Given the description of an element on the screen output the (x, y) to click on. 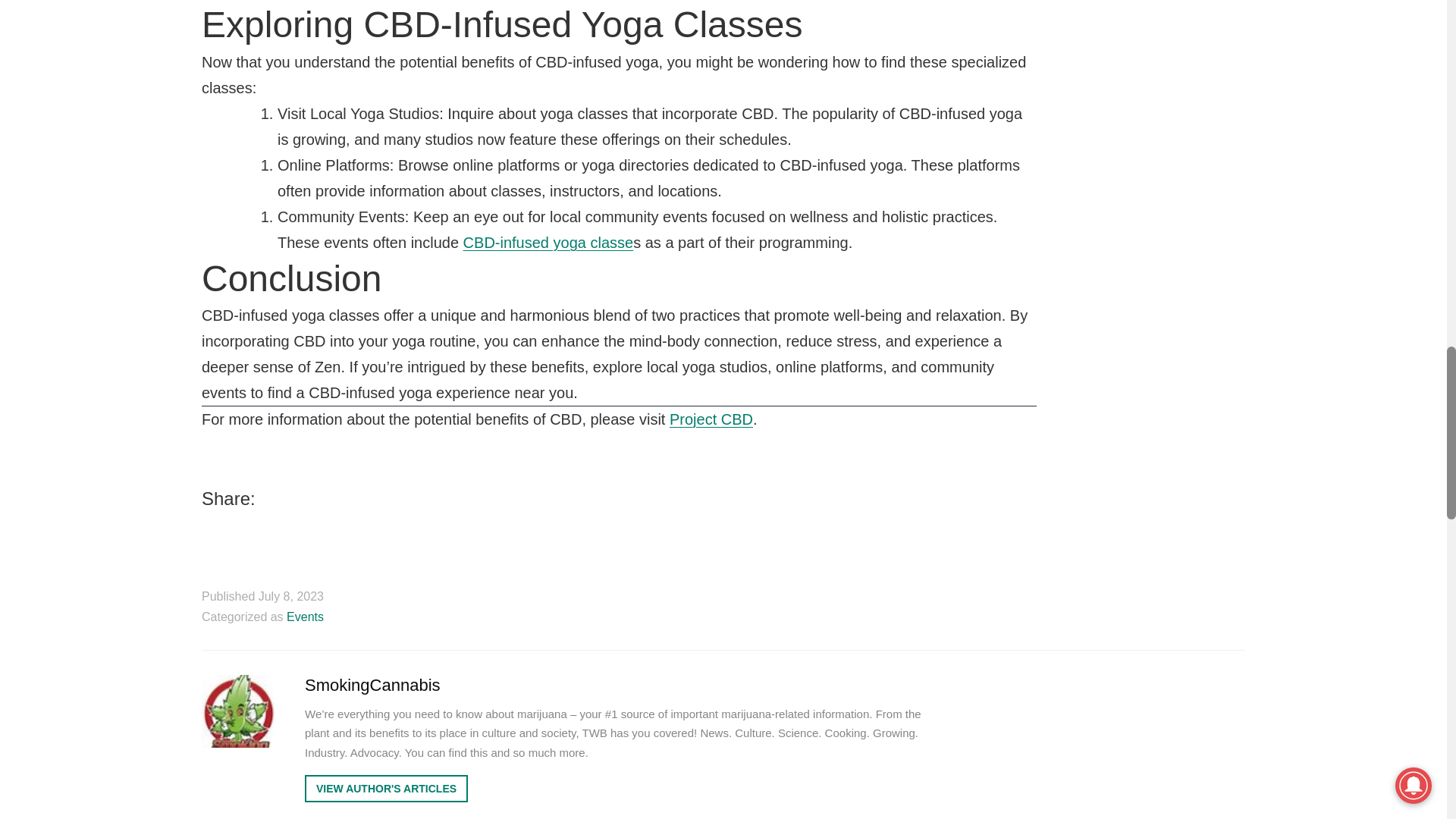
Events (304, 616)
VIEW AUTHOR'S ARTICLES (385, 788)
Project CBD (710, 419)
CBD-infused yoga classe (548, 242)
